Given the description of an element on the screen output the (x, y) to click on. 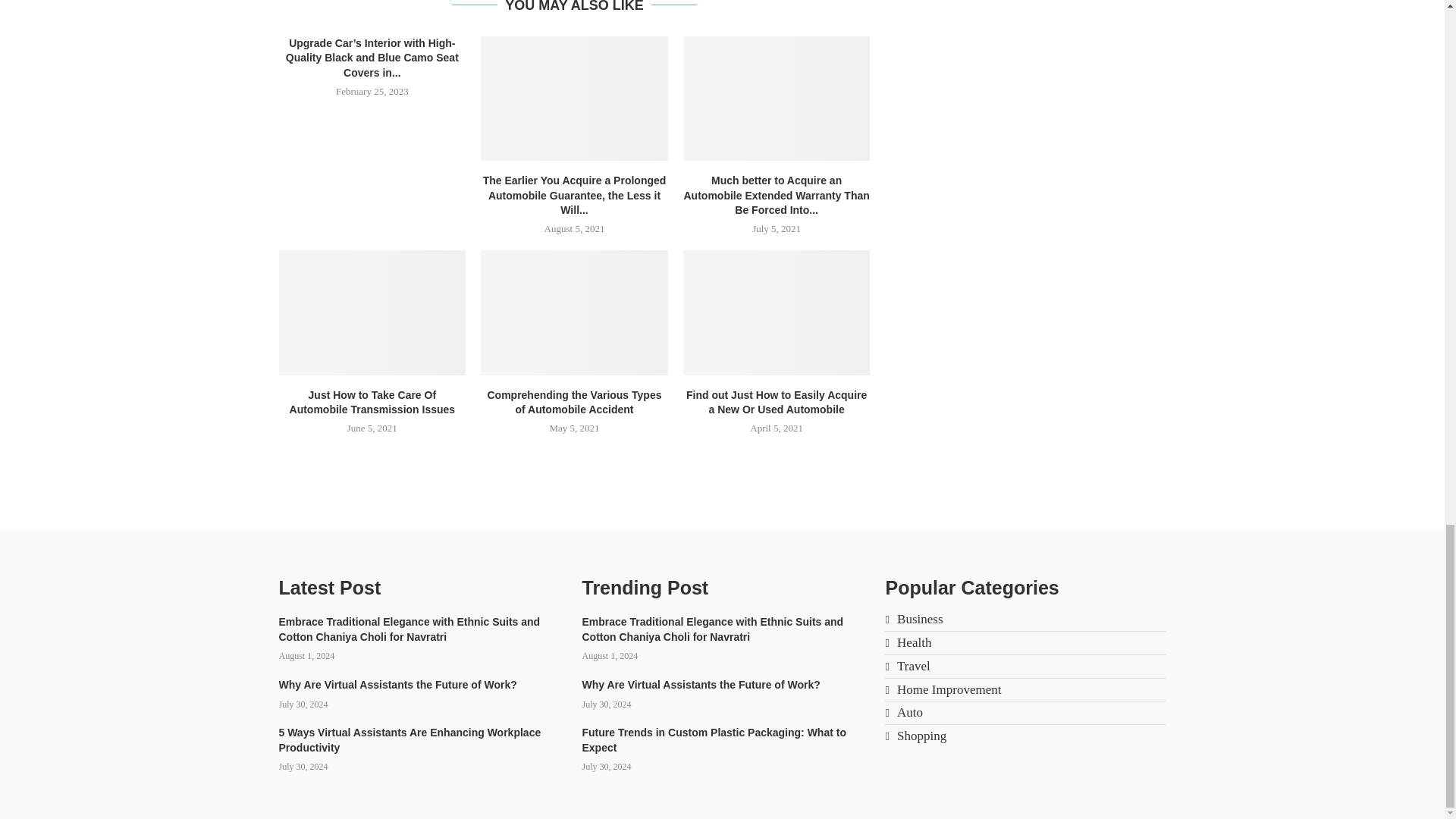
Find out Just How to Easily Acquire a New Or Used Automobile (776, 312)
Comprehending the Various Types of Automobile Accident (574, 312)
Just How to Take Care Of Automobile Transmission Issues (372, 312)
